Given the description of an element on the screen output the (x, y) to click on. 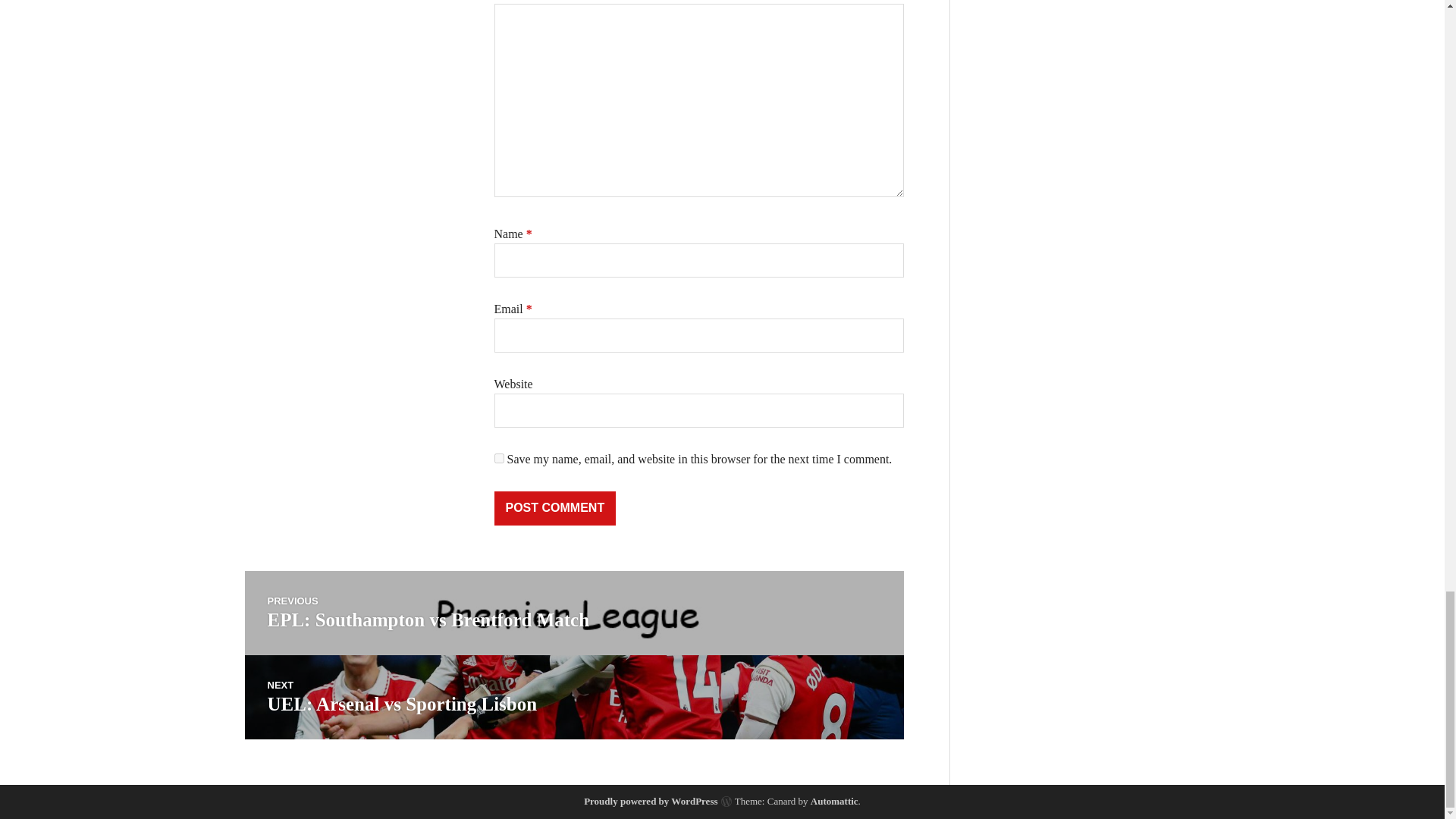
Post Comment (555, 508)
Automattic (573, 697)
Post Comment (834, 800)
yes (555, 508)
Proudly powered by WordPress (499, 458)
